Given the description of an element on the screen output the (x, y) to click on. 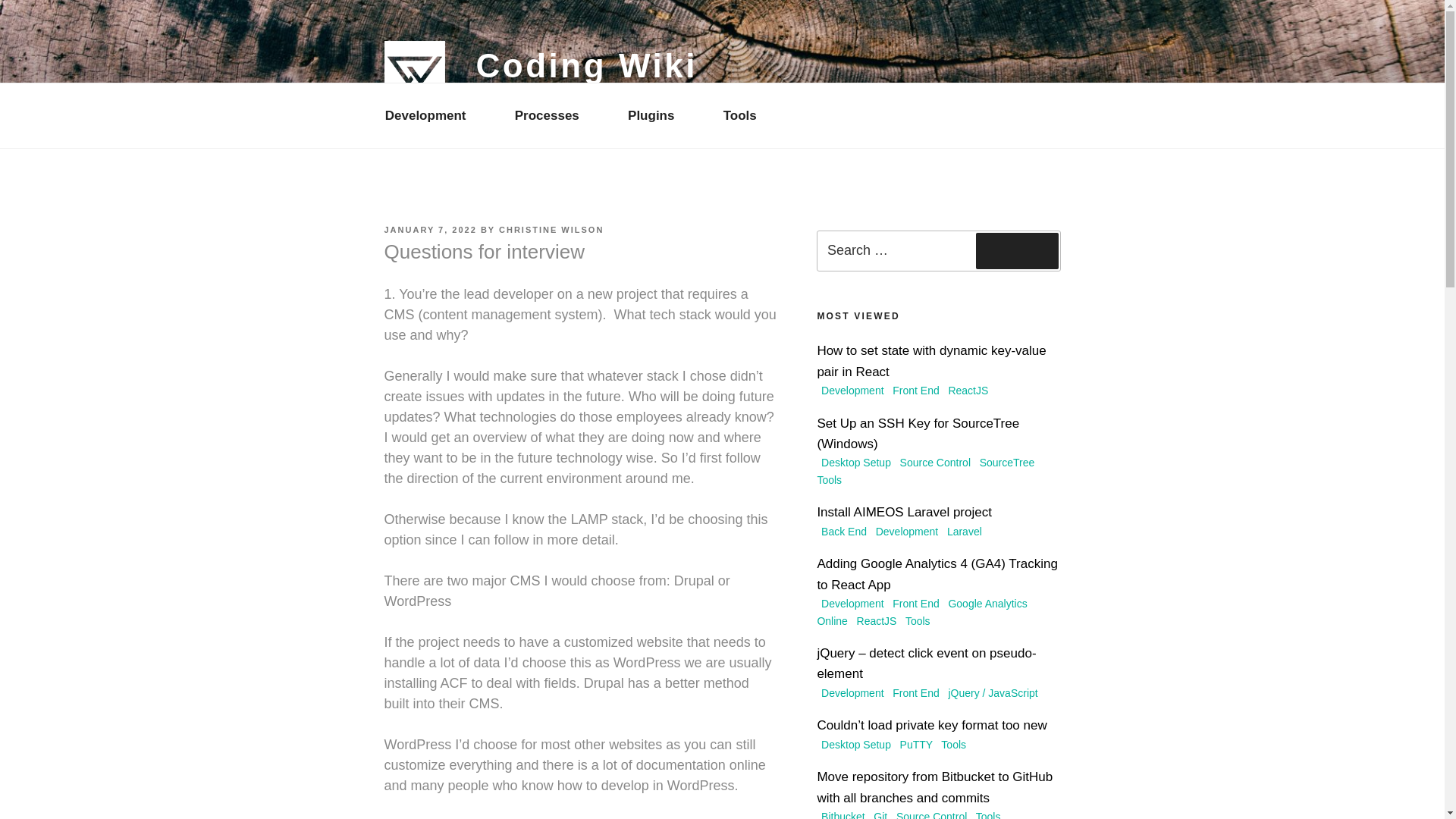
Processes (552, 115)
Coding Wiki (587, 65)
Development (431, 115)
Plugins (657, 115)
Tools (746, 115)
